Given the description of an element on the screen output the (x, y) to click on. 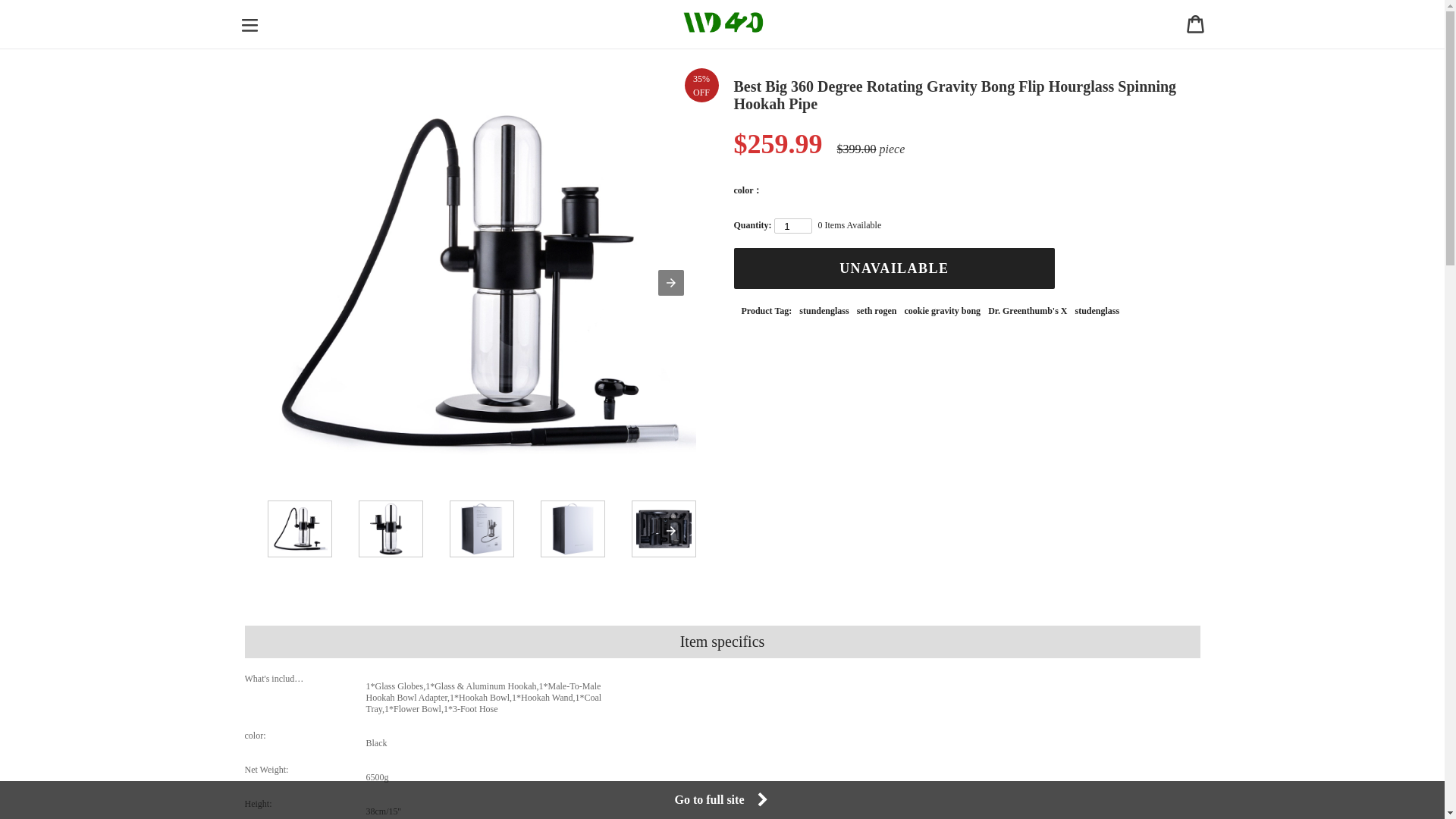
stundenglass (823, 310)
cookie gravity bong (941, 310)
UNAVAILABLE (894, 268)
Dr. Greenthumb's X (1027, 310)
What's included (289, 678)
Net Weight (289, 769)
Next item in carousel (671, 530)
color (289, 736)
seth rogen (876, 310)
